Given the description of an element on the screen output the (x, y) to click on. 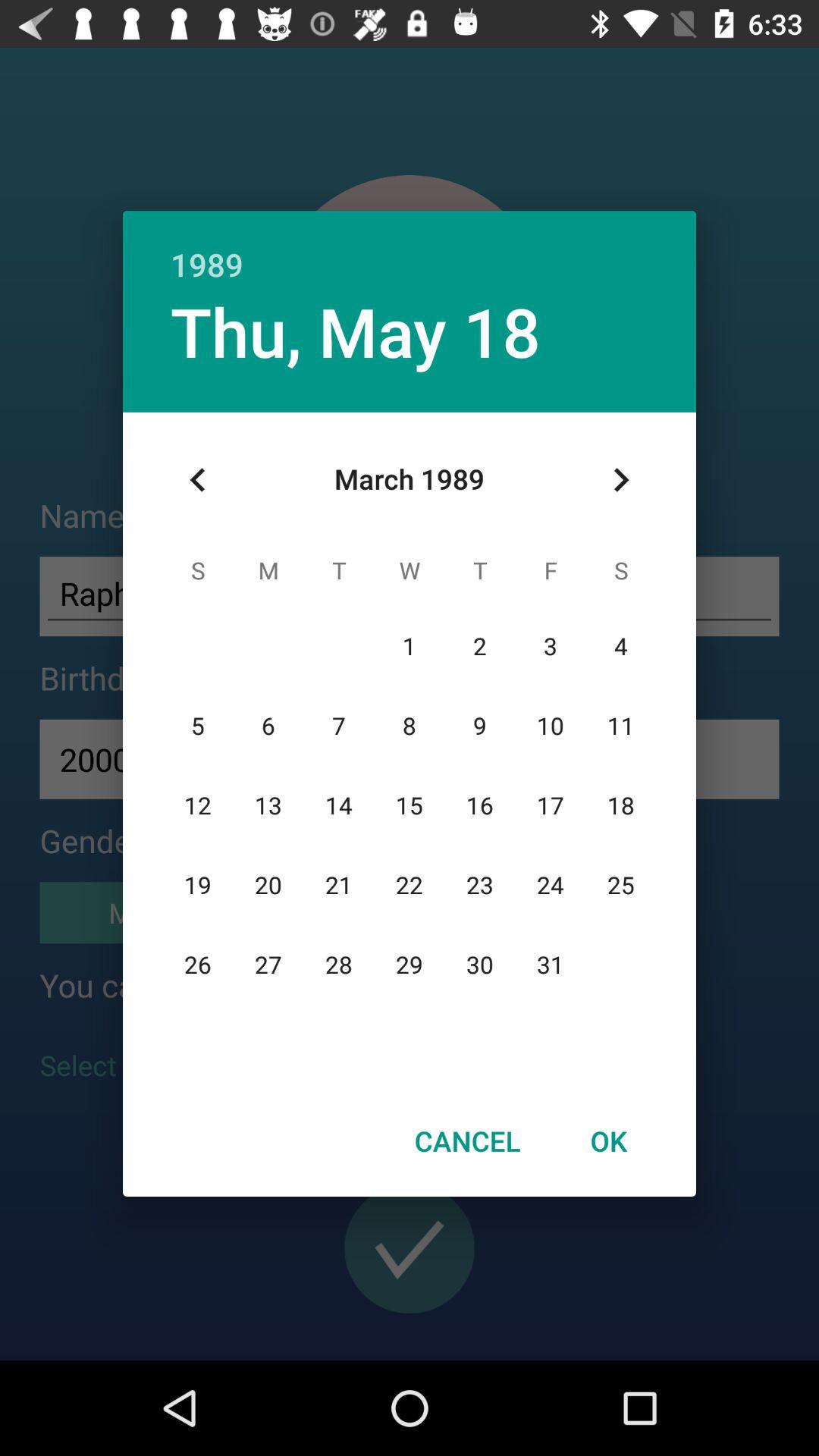
choose the icon to the right of the cancel item (608, 1140)
